Given the description of an element on the screen output the (x, y) to click on. 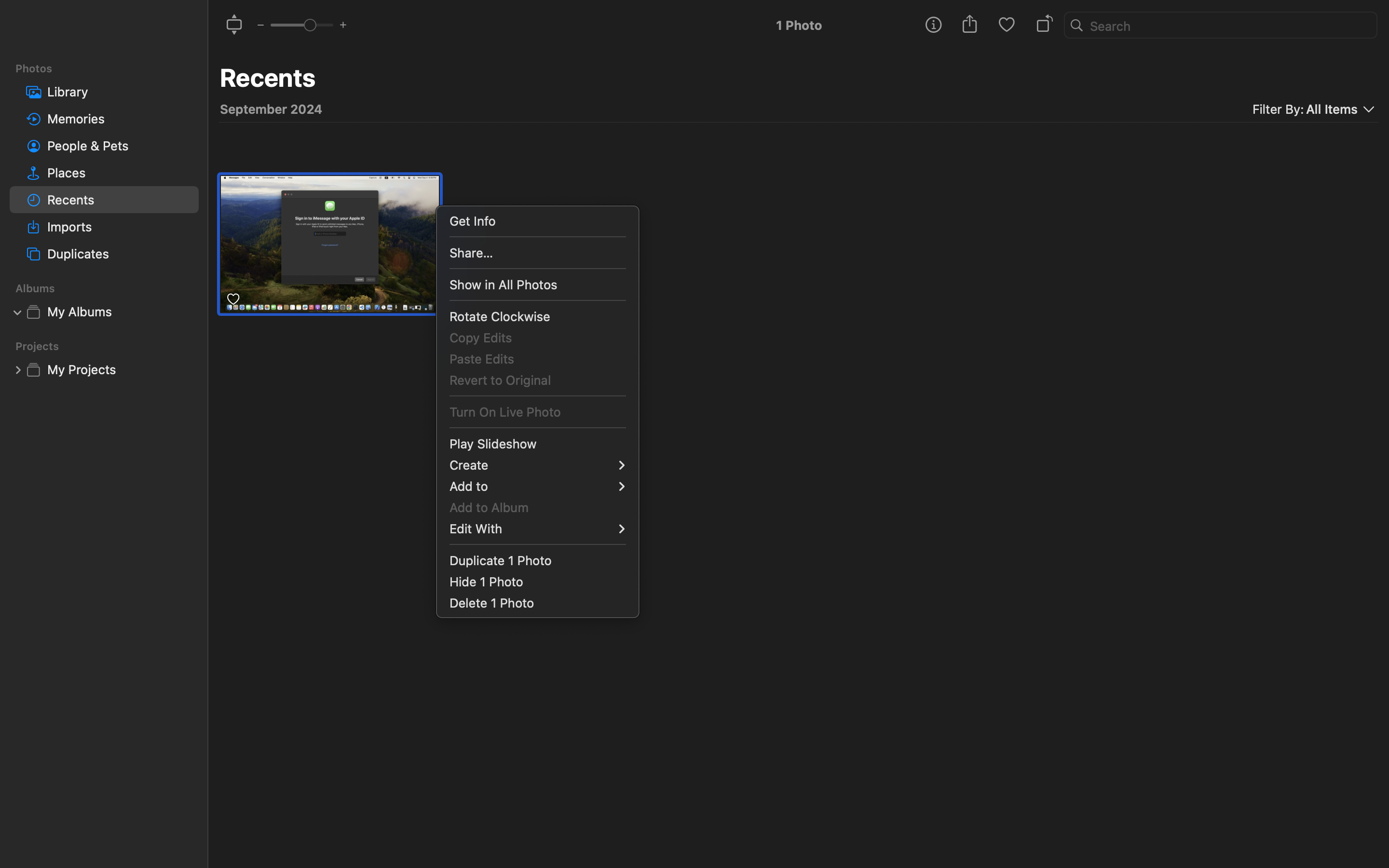
Memories Element type: AXStaticText (118, 118)
September 2024 Element type: AXStaticText (270, 108)
Imports Element type: AXStaticText (118, 226)
People & Pets Element type: AXStaticText (118, 145)
Photos Element type: AXStaticText (109, 68)
